Given the description of an element on the screen output the (x, y) to click on. 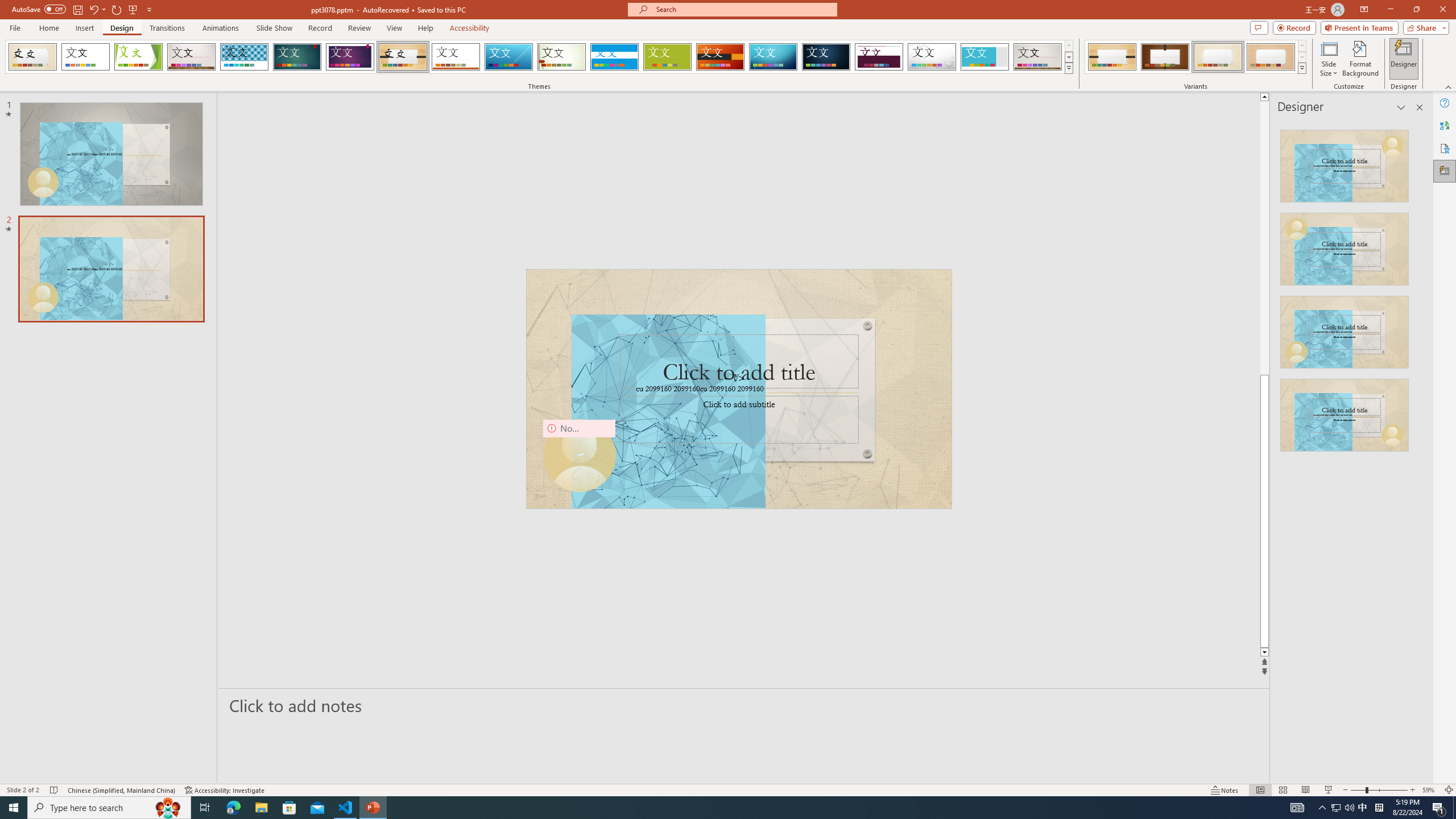
Variants (1301, 67)
AutomationID: SlideThemesGallery (539, 56)
Format Background (1360, 58)
Frame (984, 56)
